Given the description of an element on the screen output the (x, y) to click on. 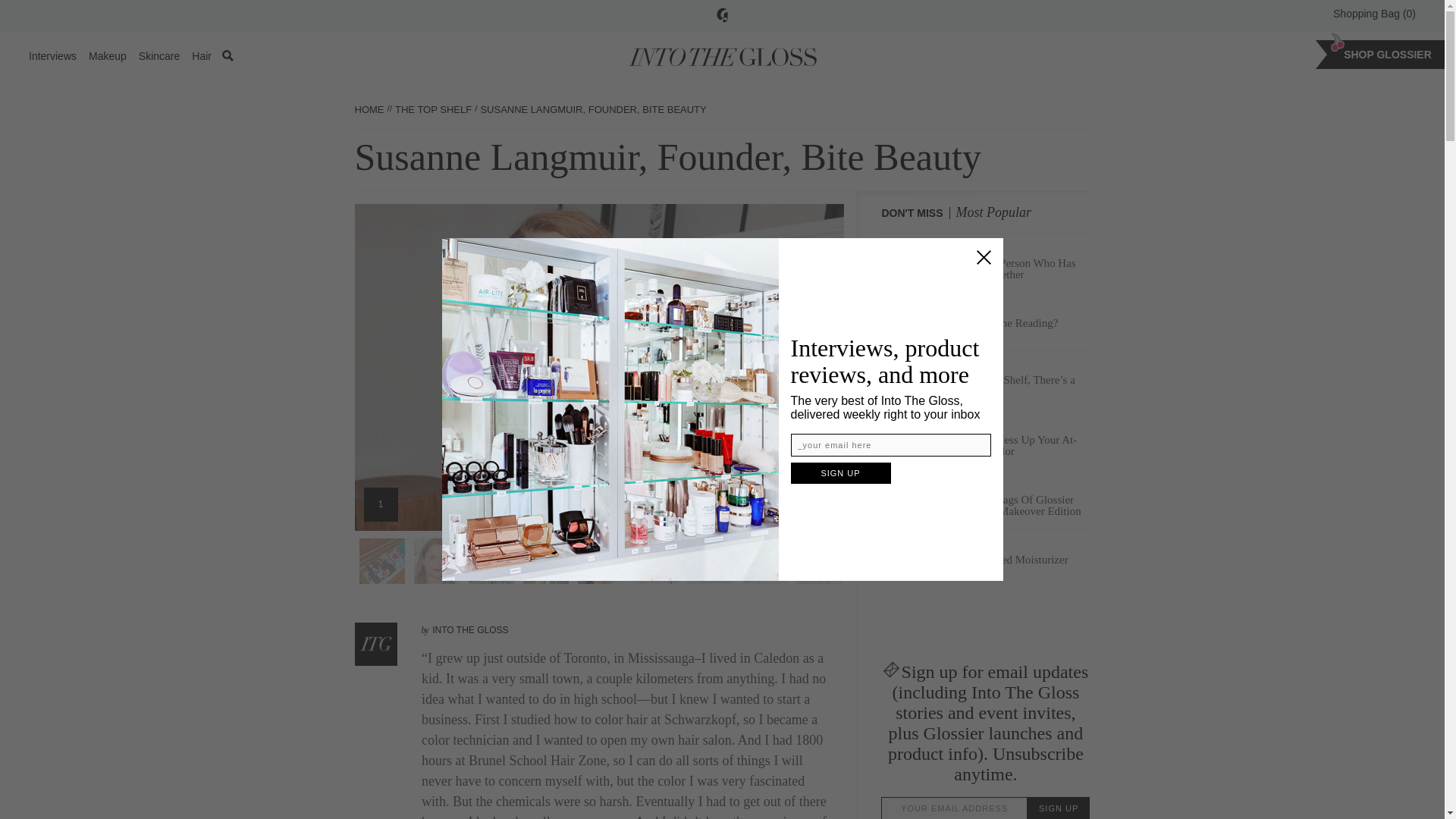
Interviews (53, 55)
THE TOP SHELF (432, 109)
Makeup (107, 55)
Hair (201, 55)
Into The Gloss (721, 56)
HOME (369, 109)
Skincare (158, 55)
SHOP GLOSSIER (1387, 54)
